Given the description of an element on the screen output the (x, y) to click on. 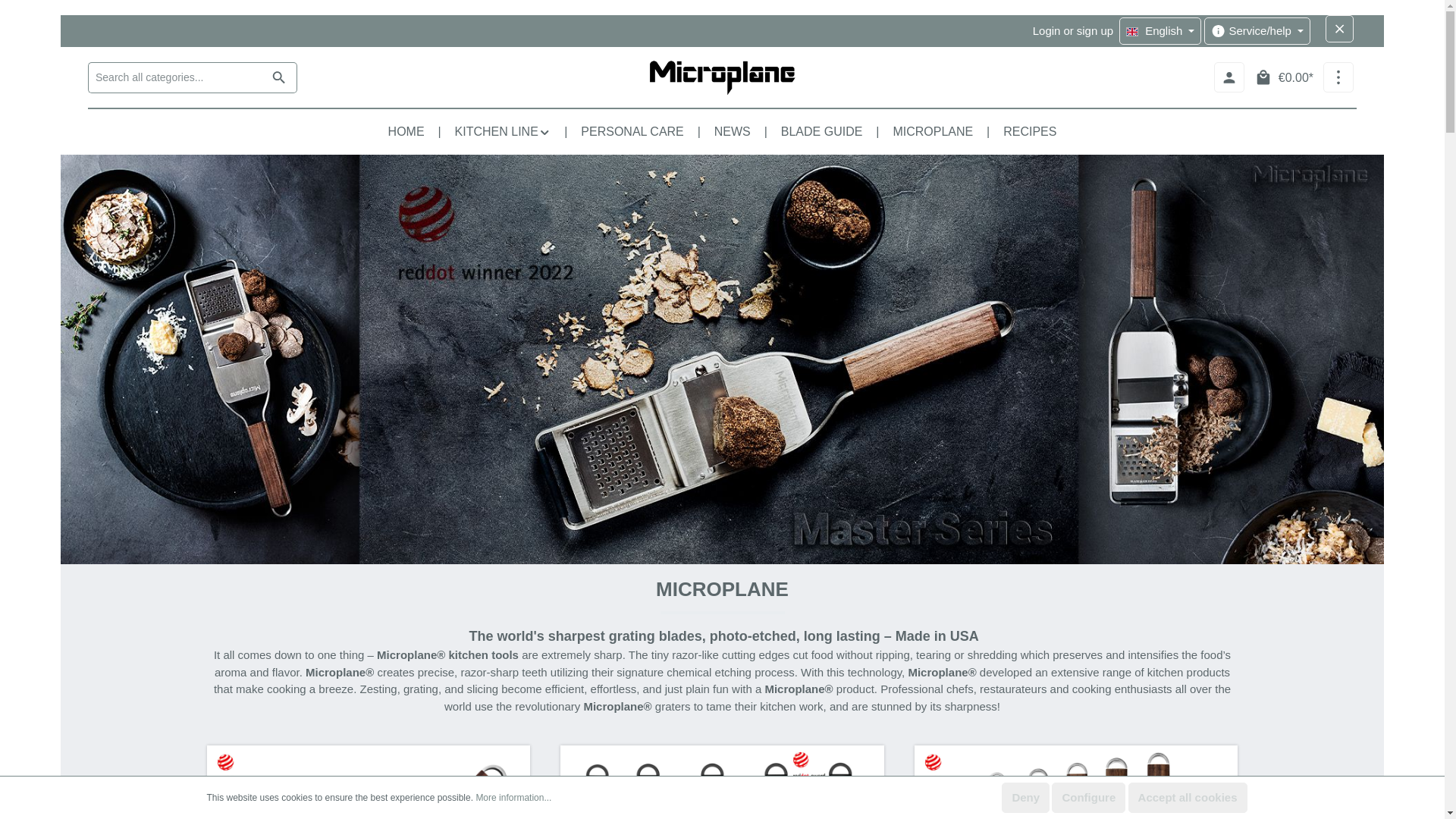
sign up (1095, 30)
Login (1046, 30)
RECIPES (1029, 131)
NEWS (731, 131)
Go to homepage (721, 76)
Login (1046, 30)
MICROPLANE (932, 131)
BLADE GUIDE (821, 131)
sign up (1095, 30)
English (1160, 31)
PERSONAL CARE (632, 131)
HOME (405, 131)
KITCHEN LINE (502, 131)
